Given the description of an element on the screen output the (x, y) to click on. 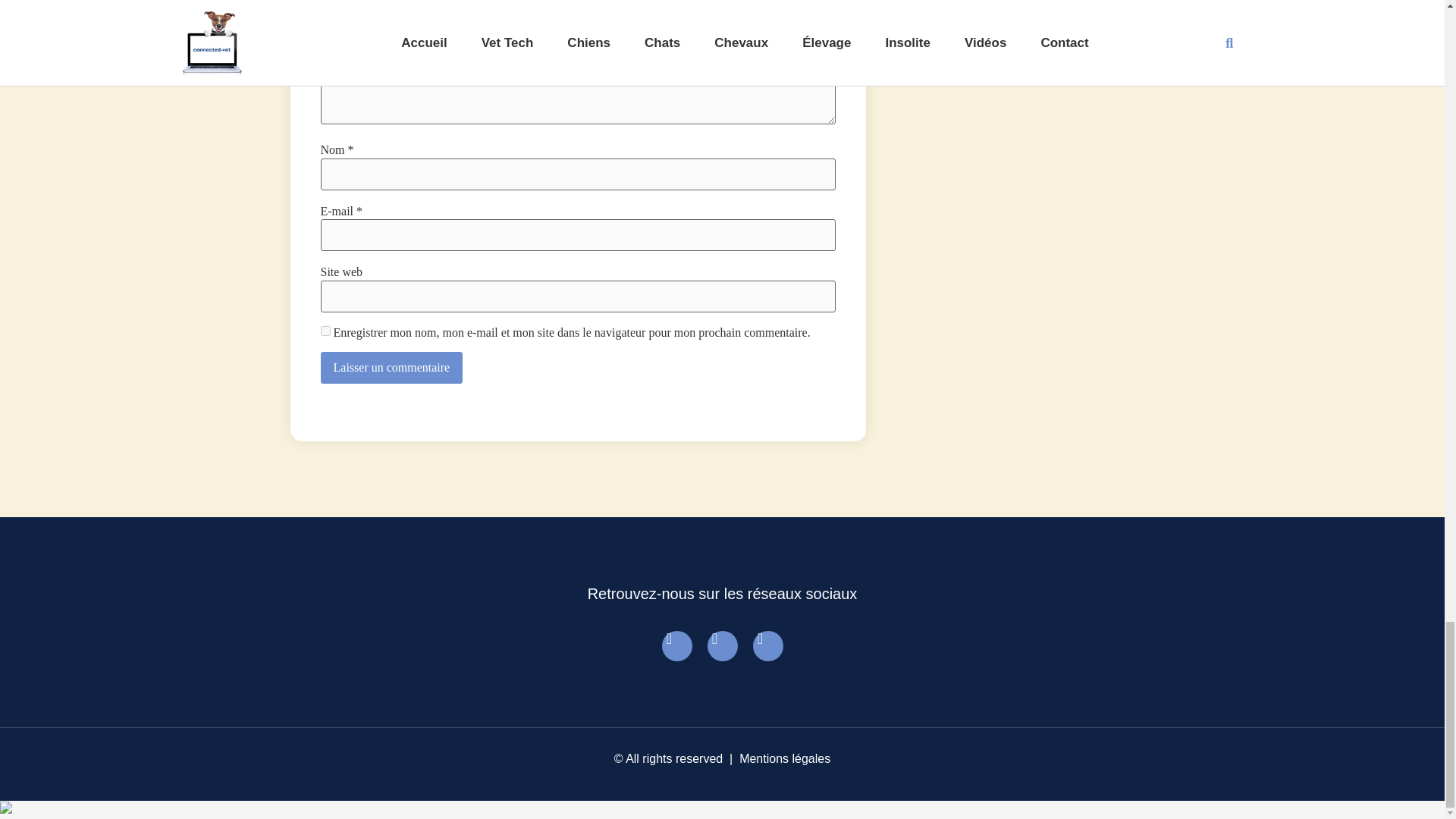
yes (325, 330)
Laisser un commentaire (391, 368)
